Given the description of an element on the screen output the (x, y) to click on. 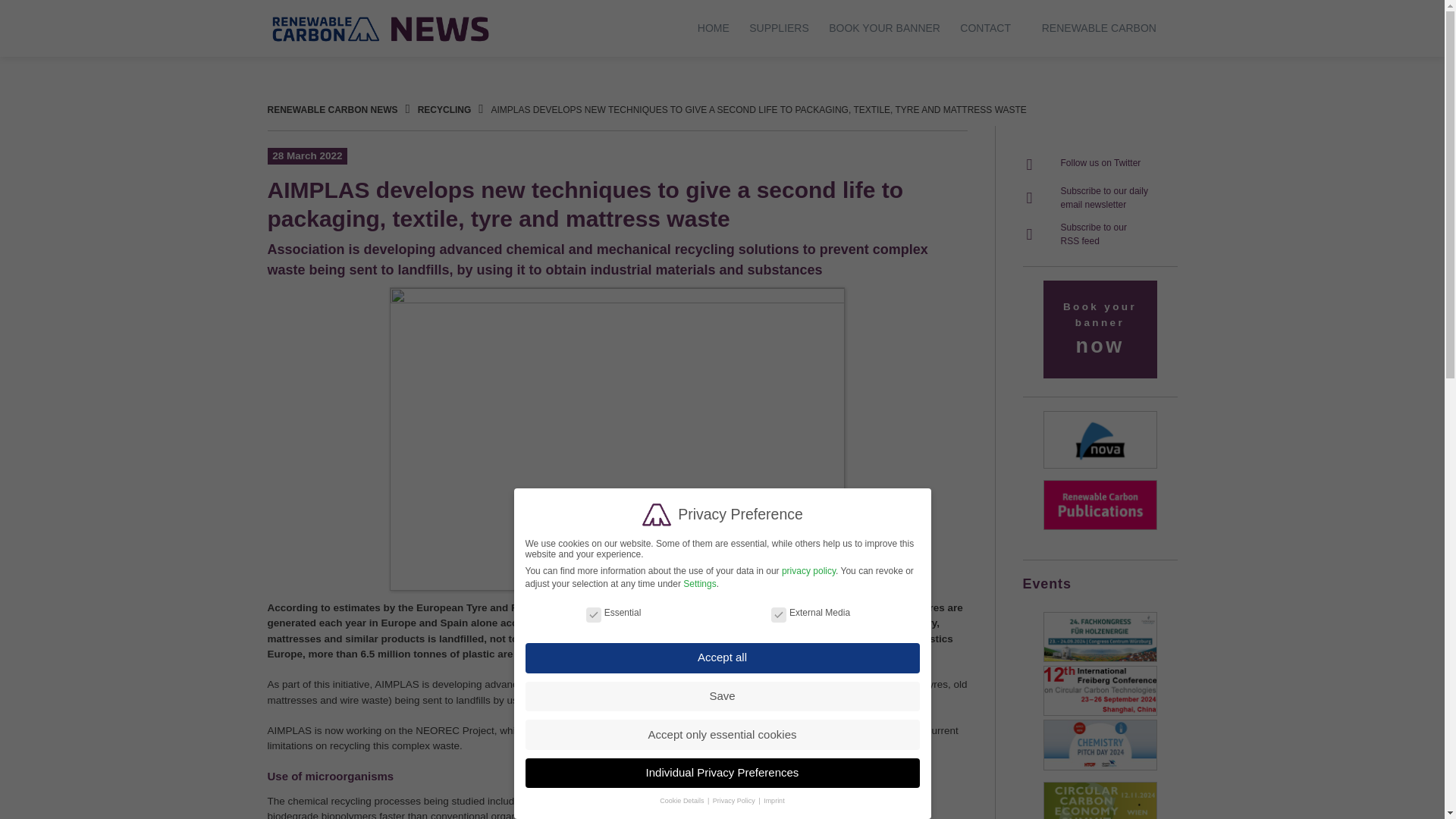
RENEWABLE CARBON NEWS (331, 109)
Renewable Carbon News (331, 109)
Renewable Carbon News (380, 28)
RECYCLING (444, 109)
BOOK YOUR BANNER (884, 28)
CONTACT (1084, 190)
Follow us on Twitter (984, 28)
RENEWABLE CARBON (1081, 163)
SUPPLIERS (1099, 28)
